Given the description of an element on the screen output the (x, y) to click on. 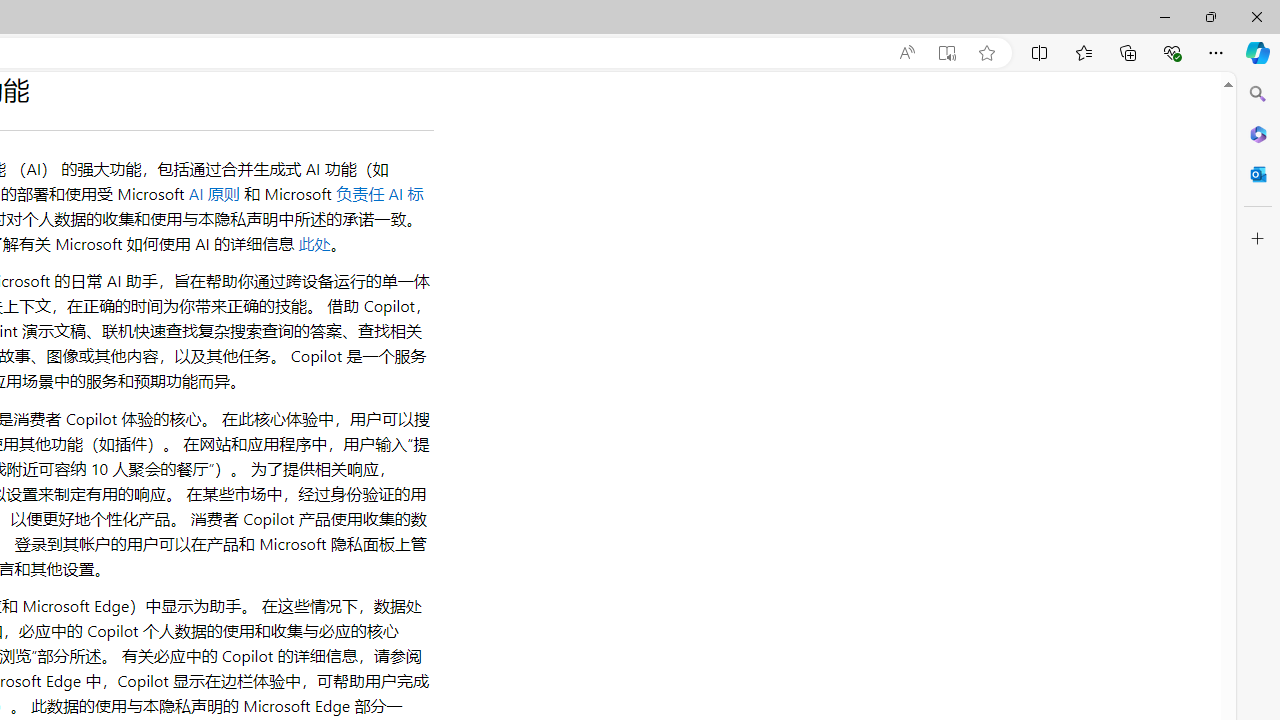
Enter Immersive Reader (F9) (946, 53)
